Given the description of an element on the screen output the (x, y) to click on. 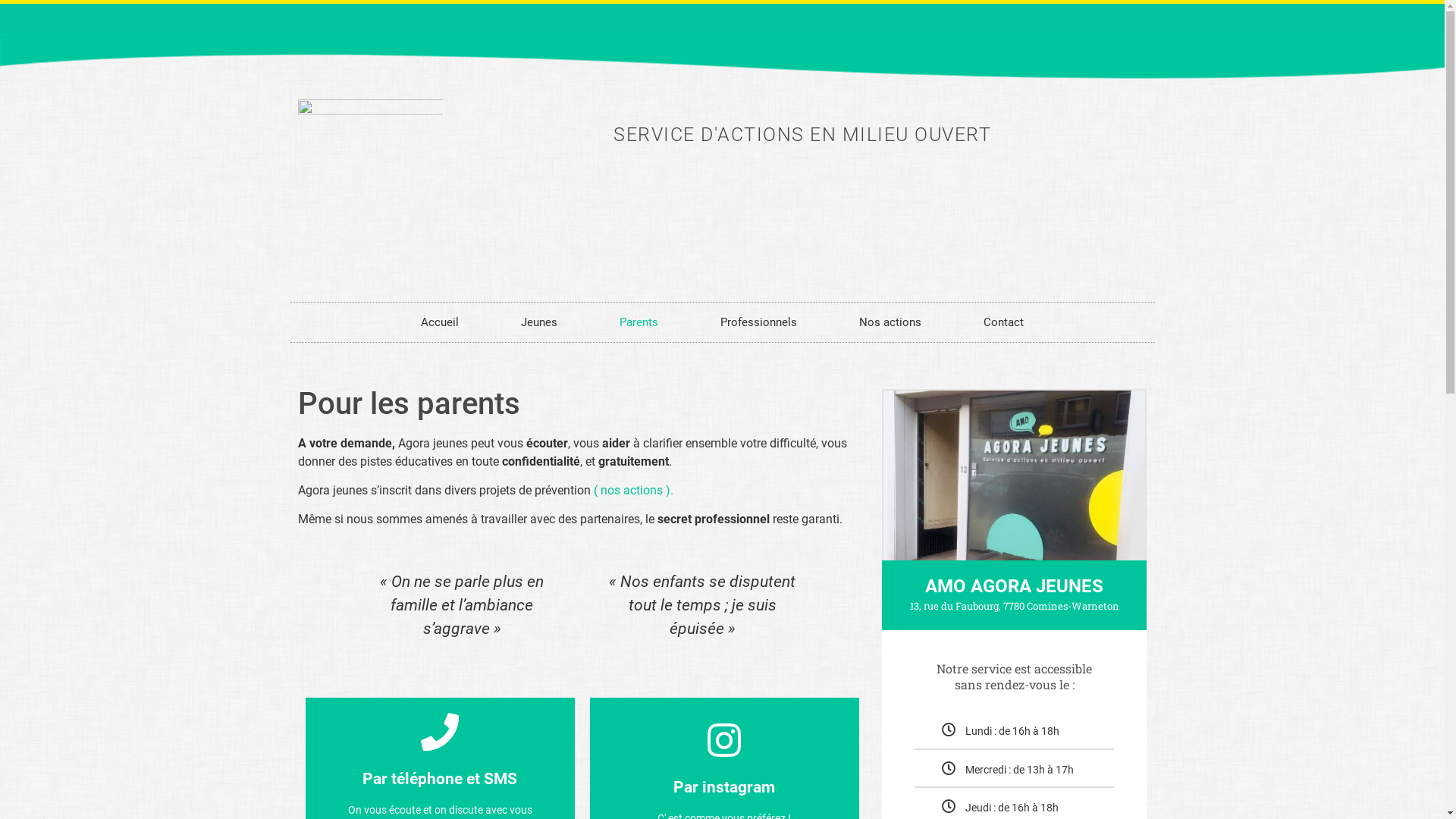
Nos actions Element type: text (890, 322)
J'appelle Element type: text (440, 742)
Jeunes Element type: text (538, 322)
Parents Element type: text (638, 322)
Accueil Element type: text (439, 322)
Contact Element type: text (1003, 322)
( nos actions ). Element type: text (632, 490)
Professionnels Element type: text (758, 322)
